Given the description of an element on the screen output the (x, y) to click on. 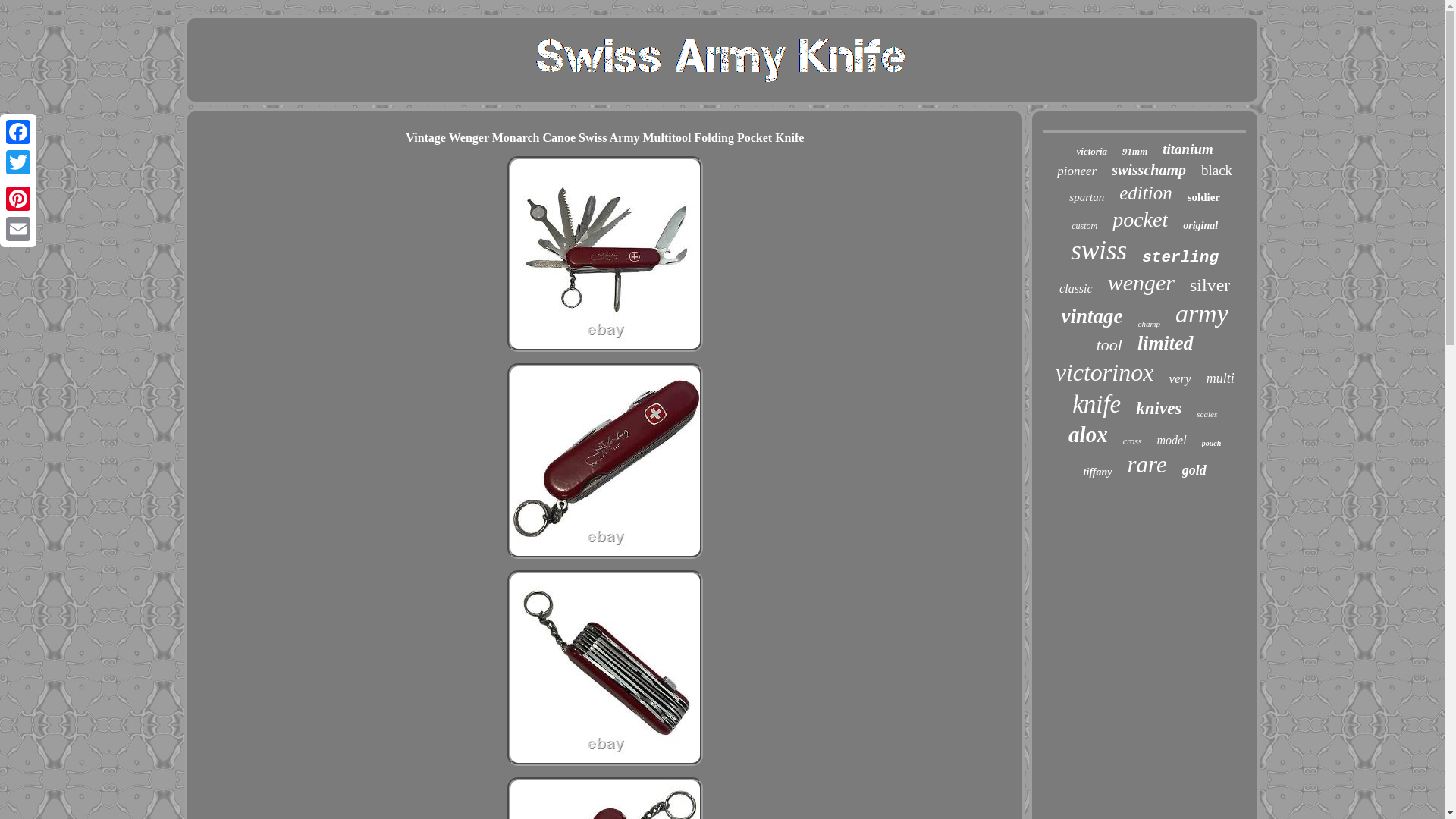
sterling (1179, 257)
original (1199, 225)
91mm (1134, 151)
swisschamp (1149, 170)
soldier (1204, 196)
Pinterest (17, 198)
vintage (1091, 316)
tool (1109, 344)
very (1180, 378)
